Given the description of an element on the screen output the (x, y) to click on. 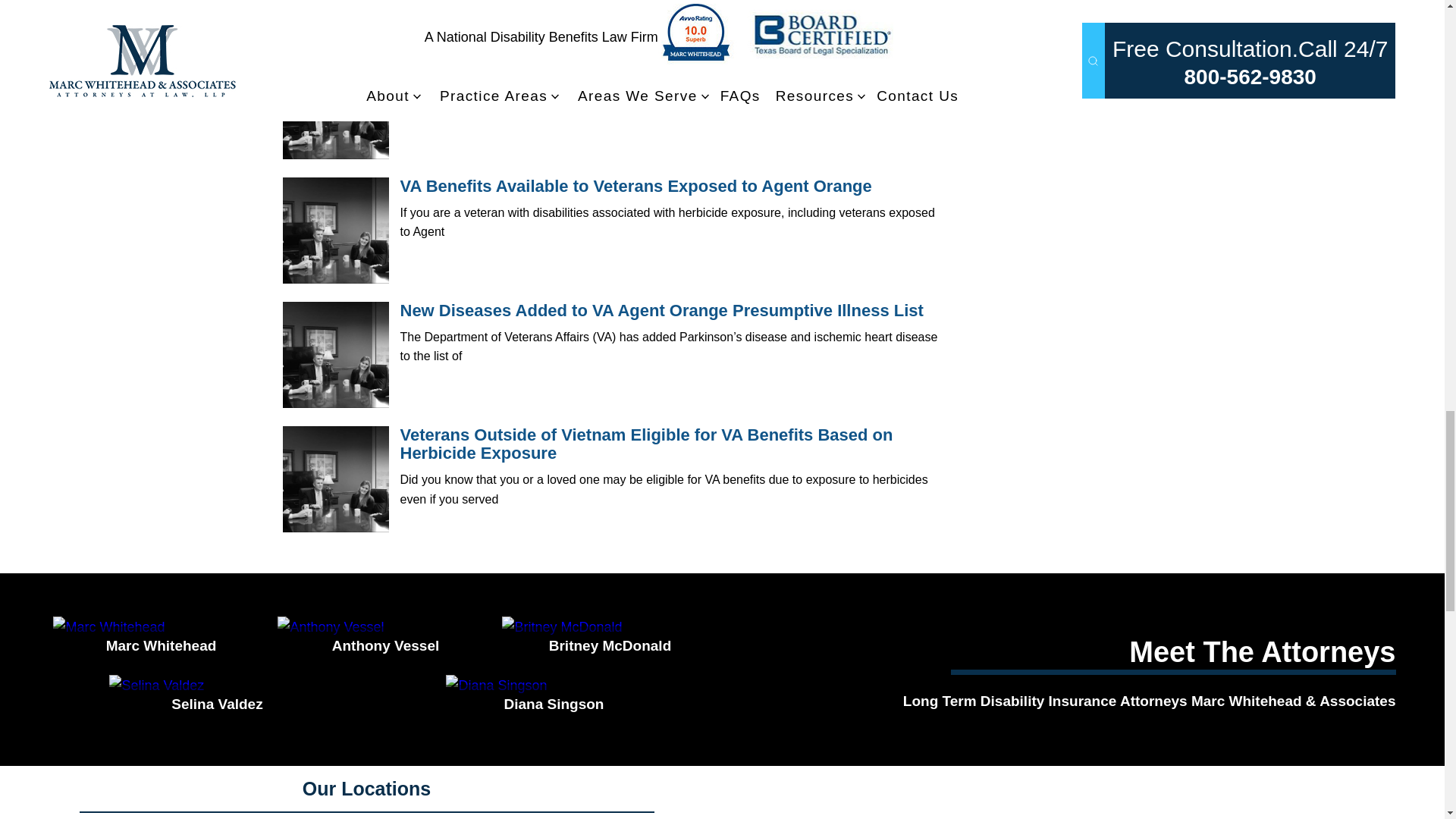
VA Benefits Available to Veterans Exposed to Agent Orange (636, 185)
The VA Compensation Program for Disabled Veterans (335, 105)
VA Benefits Available to Veterans Exposed to Agent Orange (335, 230)
The VA Compensation Program for Disabled Veterans (612, 61)
